Given the description of an element on the screen output the (x, y) to click on. 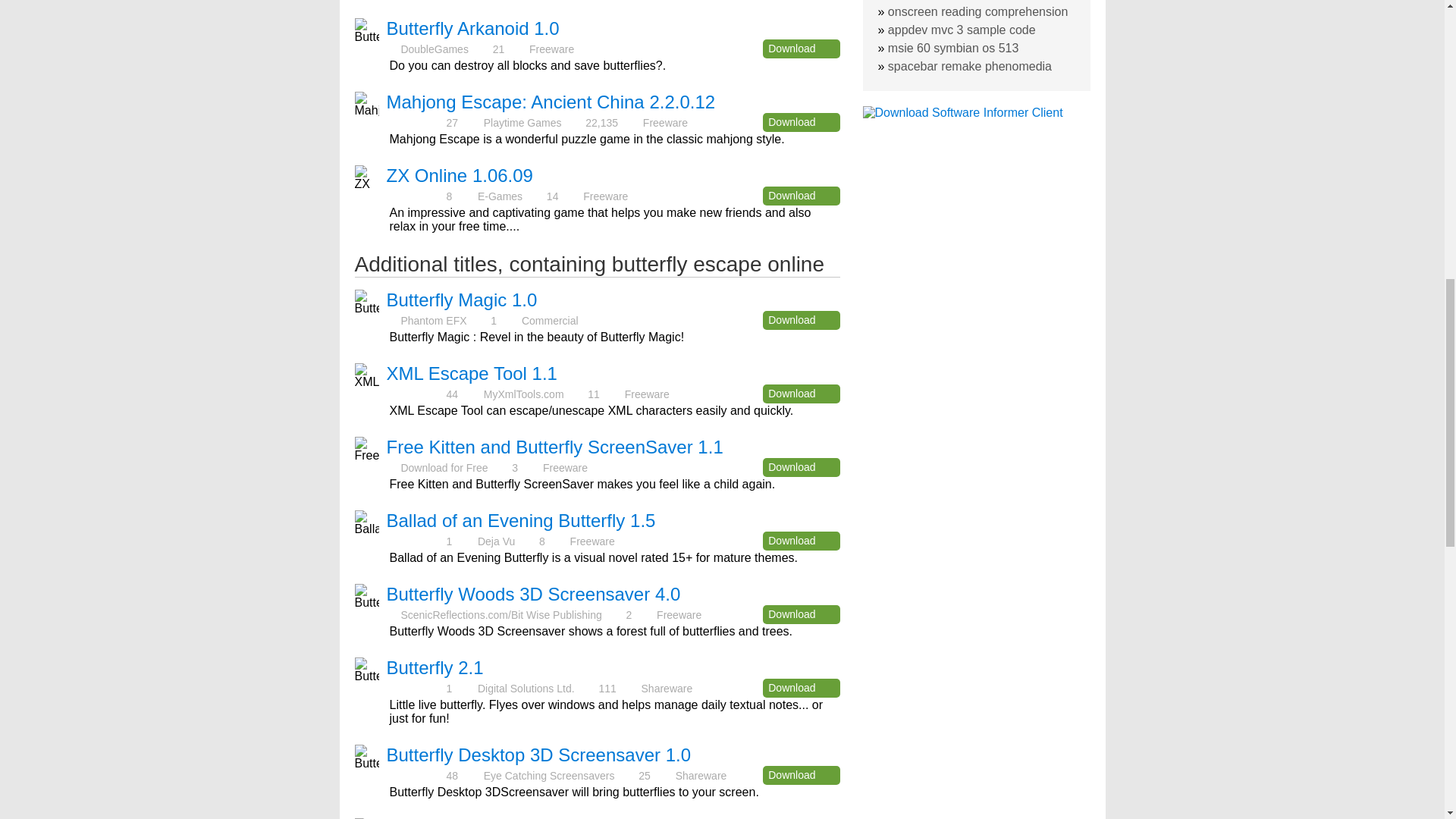
3.6 (415, 121)
5 (415, 541)
Download (801, 466)
ZX Online 1.06.09 (459, 175)
XML Escape Tool 1.1 (472, 373)
Free Kitten and Butterfly ScreenSaver 1.1 (555, 446)
Download (801, 614)
Butterfly Arkanoid 1.0 (473, 28)
Download (801, 122)
XML Escape Tool 1.1 (472, 373)
Download (801, 195)
4.1 (415, 195)
Free Kitten and Butterfly ScreenSaver 1.1 (555, 446)
Mahjong Escape: Ancient China 2.2.0.12 (551, 101)
Butterfly Magic 1.0 (462, 299)
